Given the description of an element on the screen output the (x, y) to click on. 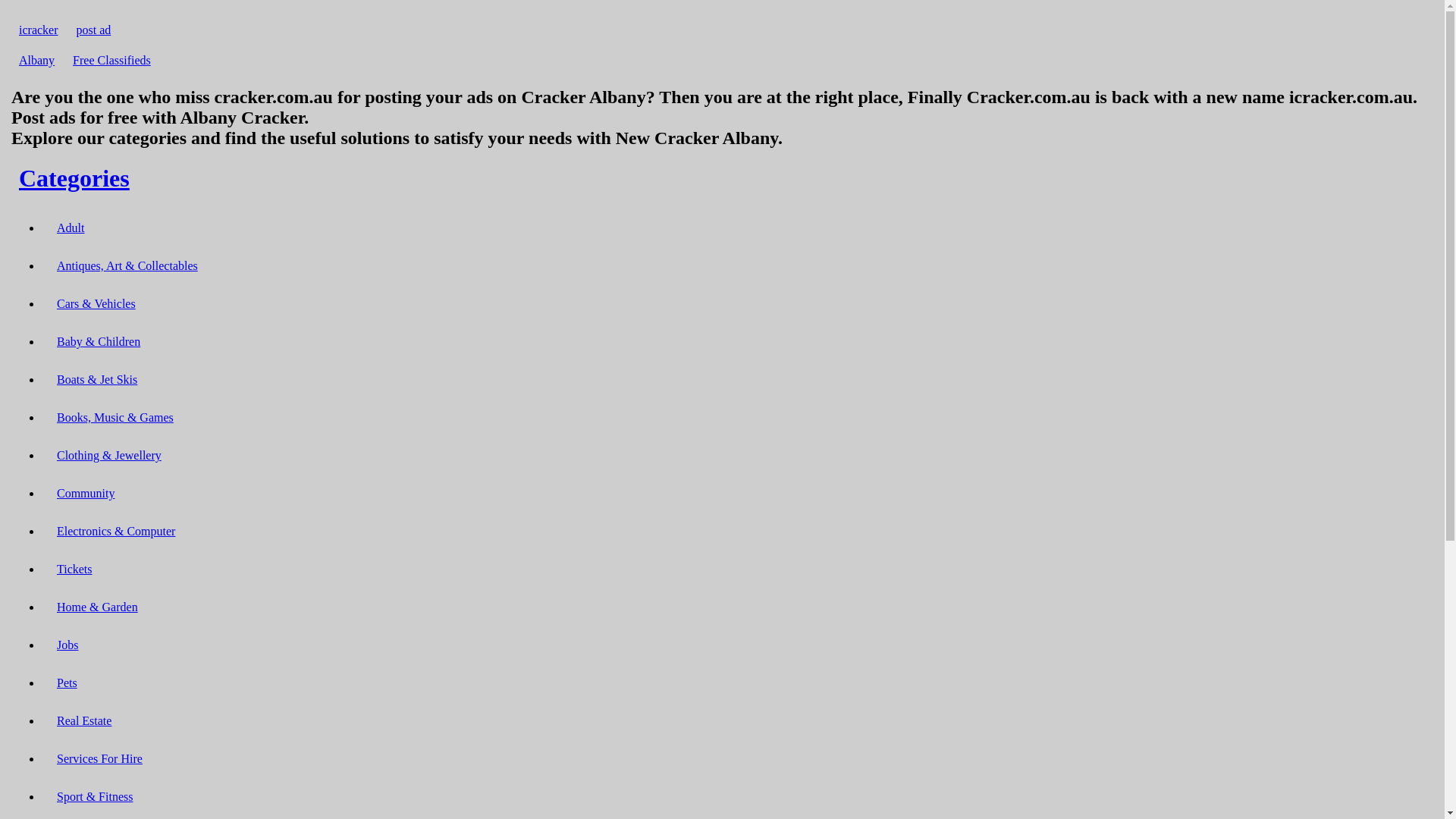
Home & Garden Element type: text (97, 607)
Community Element type: text (85, 493)
Cars & Vehicles Element type: text (96, 303)
Adult Element type: text (70, 227)
post ad Element type: text (94, 30)
Services For Hire Element type: text (99, 758)
Antiques, Art & Collectables Element type: text (127, 265)
Electronics & Computer Element type: text (115, 531)
icracker Element type: text (38, 29)
Sport & Fitness Element type: text (94, 796)
Jobs Element type: text (67, 644)
Tickets Element type: text (74, 569)
Books, Music & Games Element type: text (115, 417)
Albany Element type: text (36, 60)
Categories Element type: text (74, 177)
Pets Element type: text (66, 682)
Baby & Children Element type: text (98, 341)
Boats & Jet Skis Element type: text (96, 379)
Free Classifieds Element type: text (111, 60)
Real Estate Element type: text (84, 720)
Clothing & Jewellery Element type: text (109, 455)
